Given the description of an element on the screen output the (x, y) to click on. 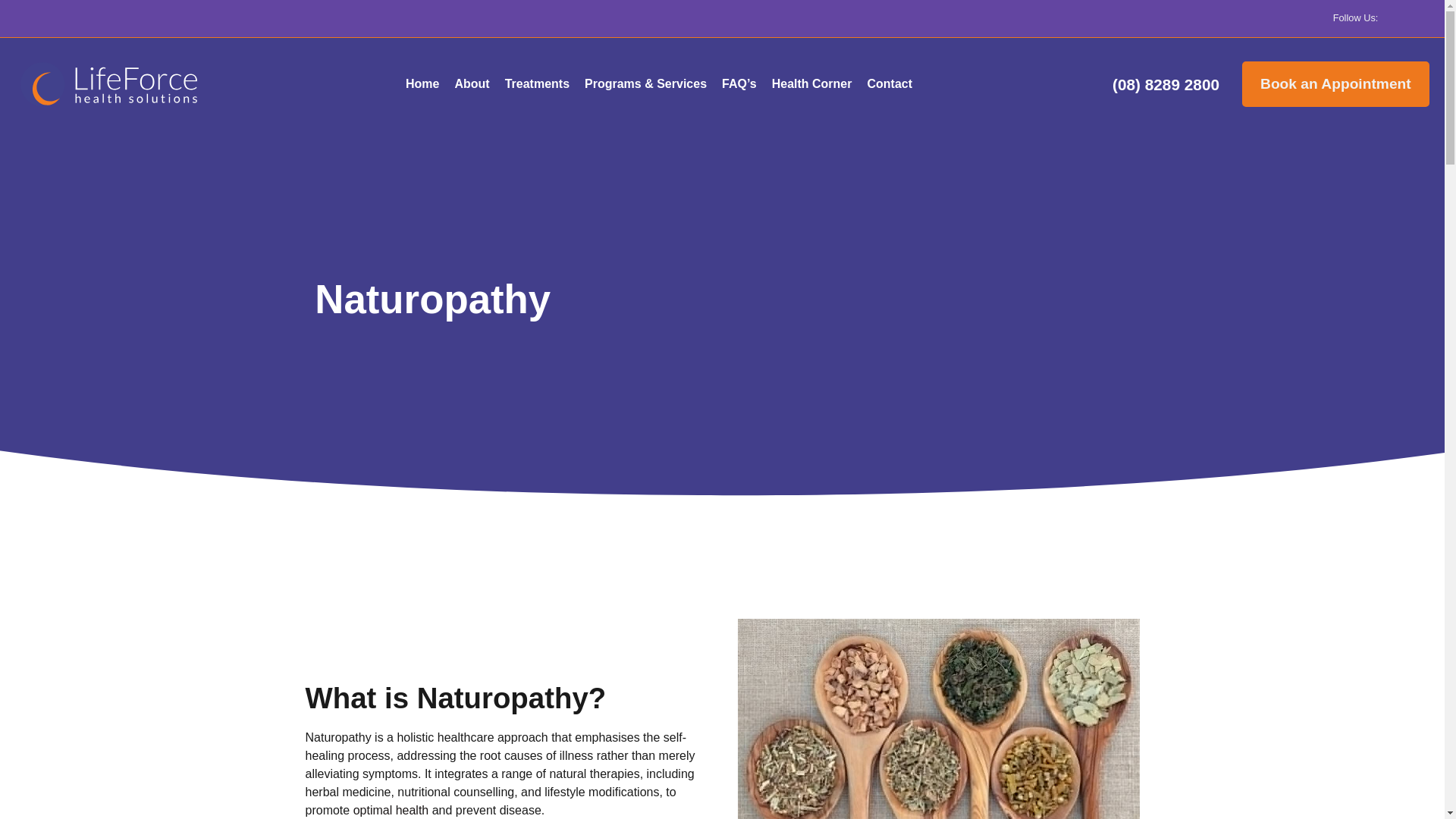
About (471, 83)
Home (421, 83)
Treatments (536, 83)
